Given the description of an element on the screen output the (x, y) to click on. 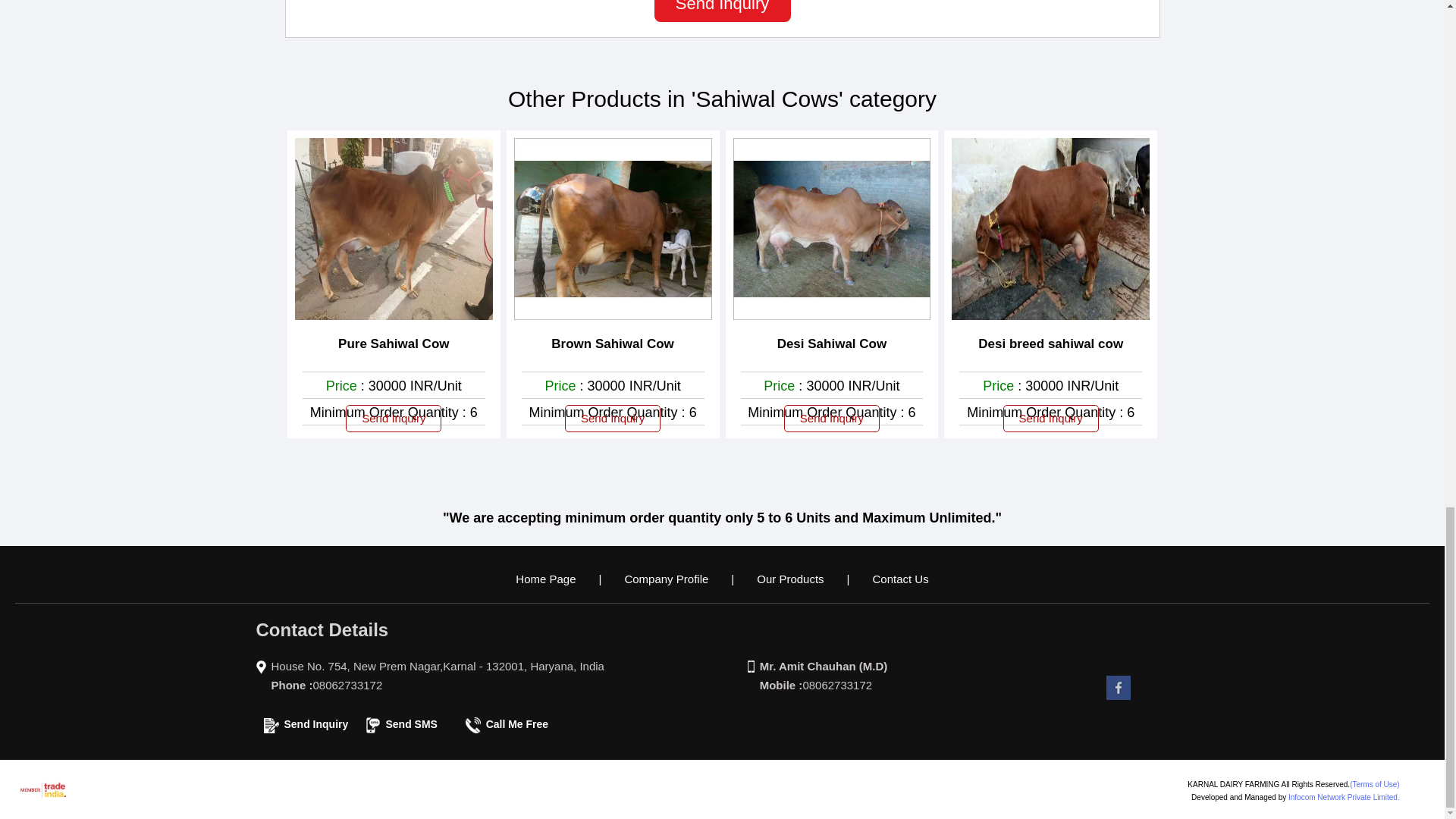
Facebook (1118, 698)
Call Me Free (472, 725)
Send Inquiry (721, 11)
Send Inquiry (271, 725)
